Given the description of an element on the screen output the (x, y) to click on. 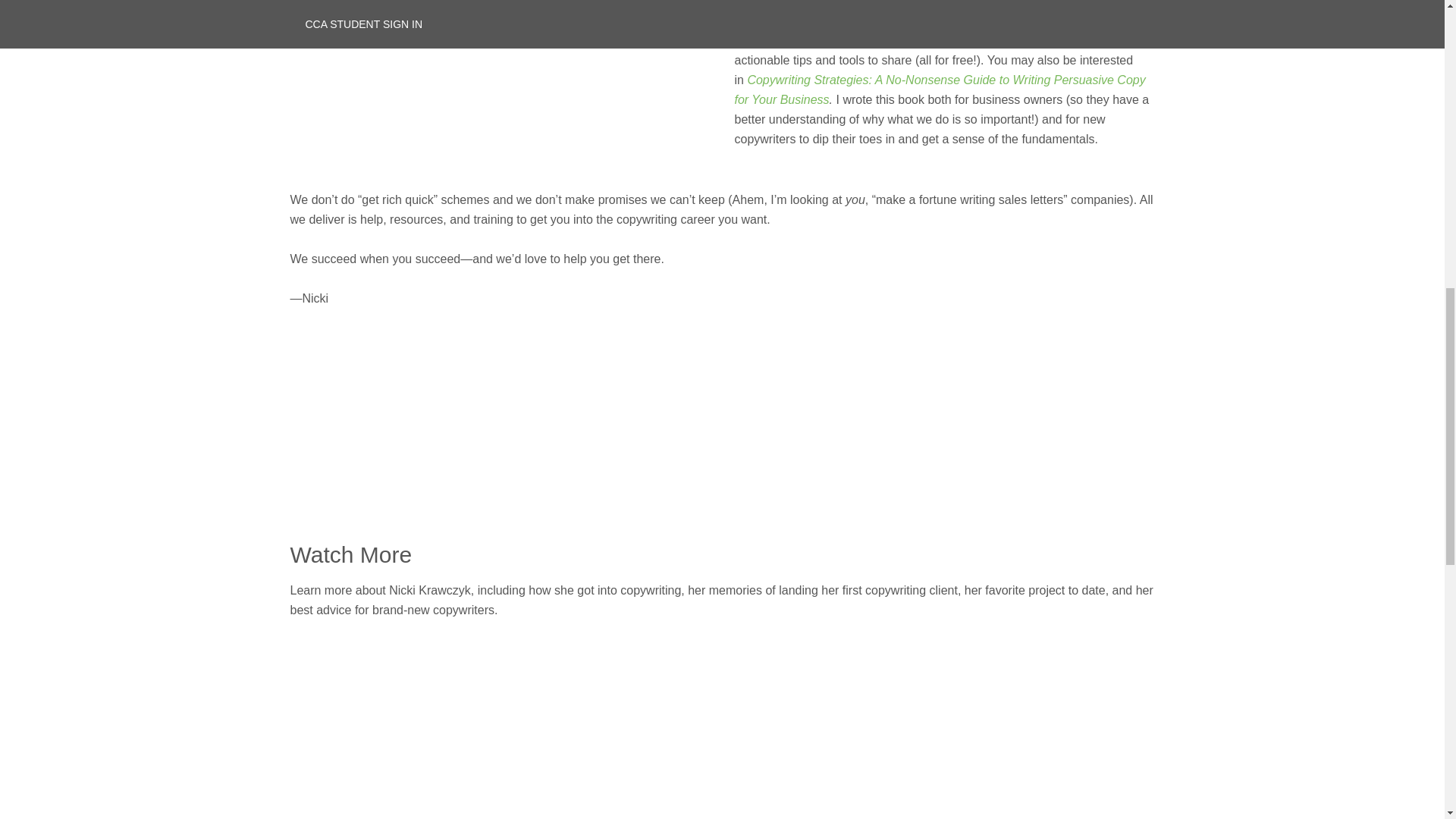
Meet Nicki, Founder of Filthy Rich Writer (478, 729)
